Given the description of an element on the screen output the (x, y) to click on. 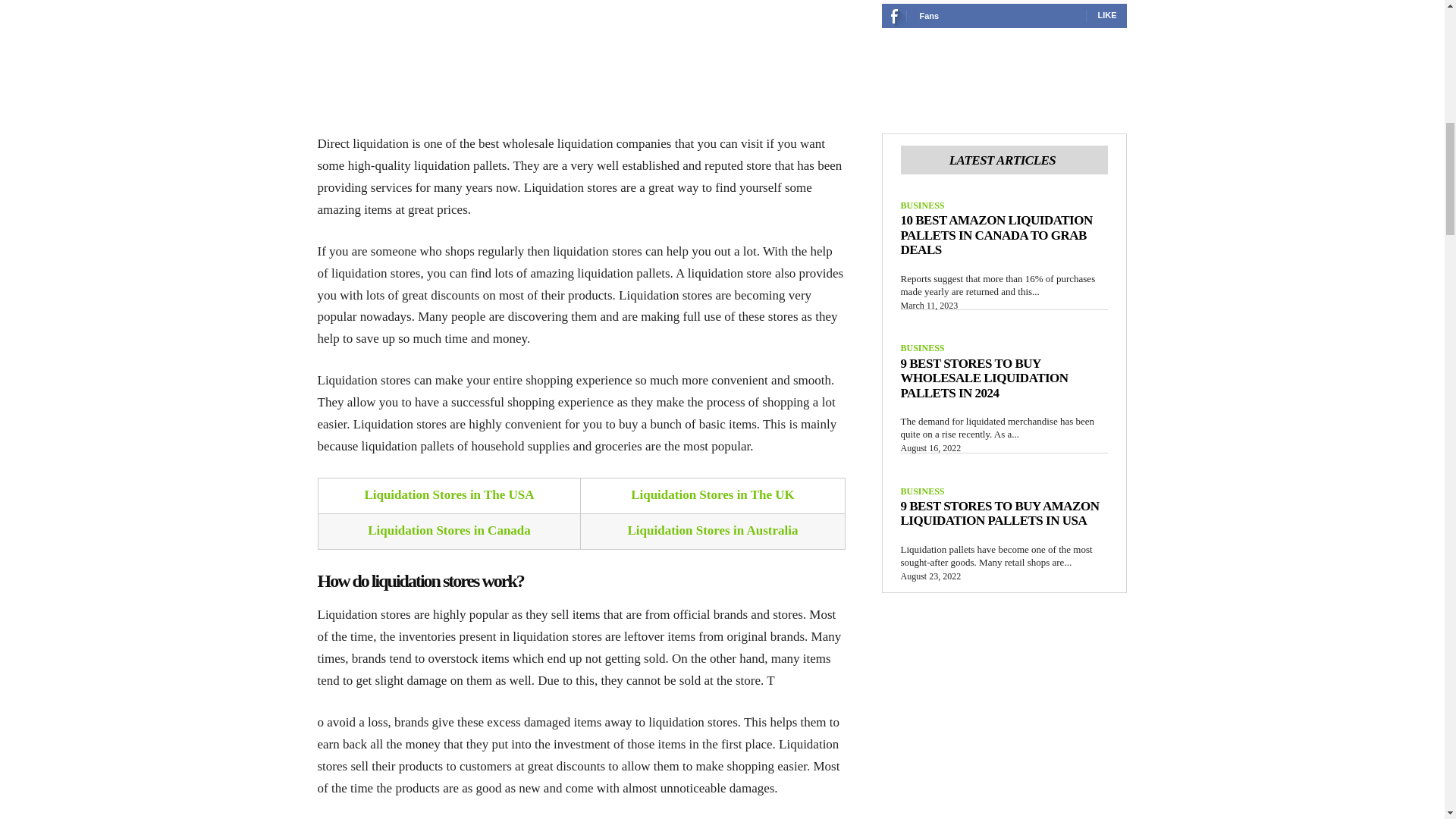
9 Best Stores to Buy Amazon Liquidation Pallets in USA (1000, 513)
BUSINESS (922, 347)
10 BEST AMAZON LIQUIDATION PALLETS IN CANADA TO GRAB DEALS (997, 234)
9 Best Stores to Buy Wholesale Liquidation Pallets in 2024 (984, 378)
10 Best Amazon Liquidation Pallets in Canada to Grab Deals (997, 234)
Liquidation Stores in The USA (449, 494)
LIKE (1106, 14)
BUSINESS (922, 204)
Liquidation Stores in Australia (712, 530)
9 BEST STORES TO BUY WHOLESALE LIQUIDATION PALLETS IN 2024 (984, 378)
Liquidation Stores in Canada (449, 530)
Liquidation Stores in The UK (712, 494)
